Given the description of an element on the screen output the (x, y) to click on. 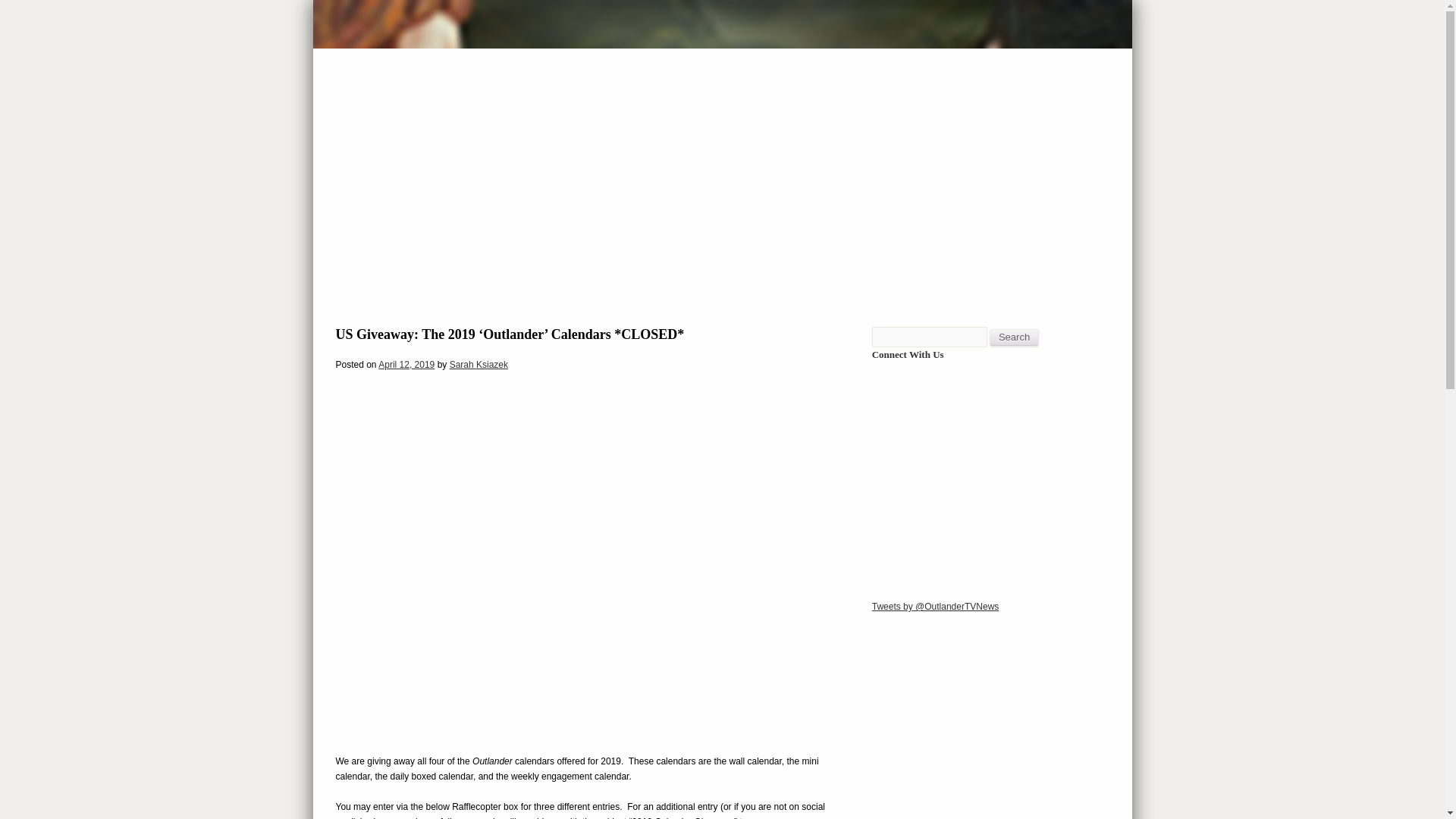
View all posts by Sarah Ksiazek (478, 364)
ABOUT (633, 204)
Search (1014, 337)
WHERE TO WATCH (739, 204)
12:01 AM (405, 364)
CONTACT US (861, 204)
April 12, 2019 (405, 364)
HOME (563, 204)
Search (1014, 337)
Sarah Ksiazek (478, 364)
